Given the description of an element on the screen output the (x, y) to click on. 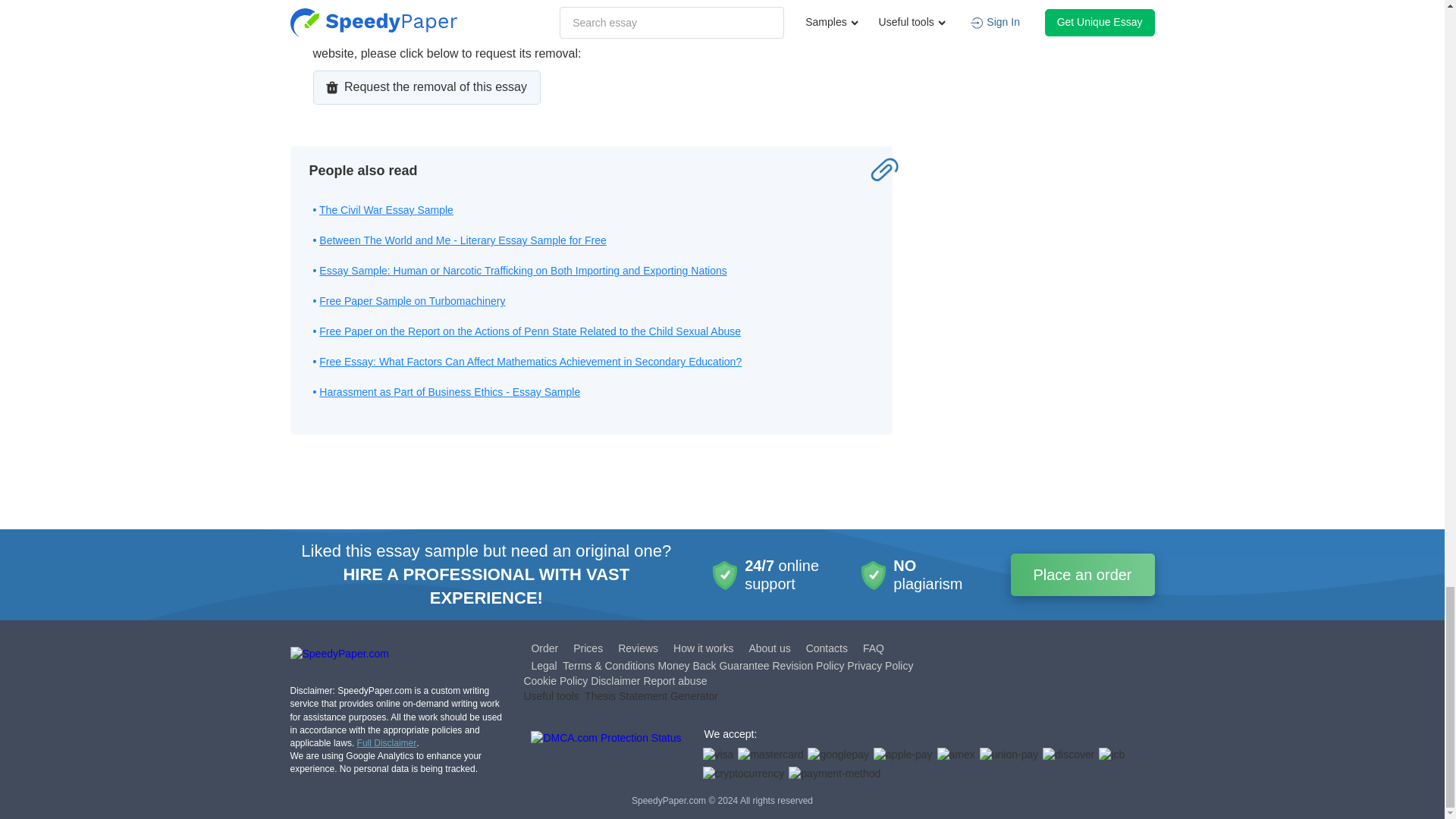
jcb (1111, 754)
googlepay (838, 754)
cryptocurrency (742, 773)
mastercard (770, 754)
payment-method (834, 773)
visa (717, 754)
union-pay (1009, 754)
DMCA.com Protection Status (606, 756)
amex (956, 754)
apple-pay (903, 754)
